Given the description of an element on the screen output the (x, y) to click on. 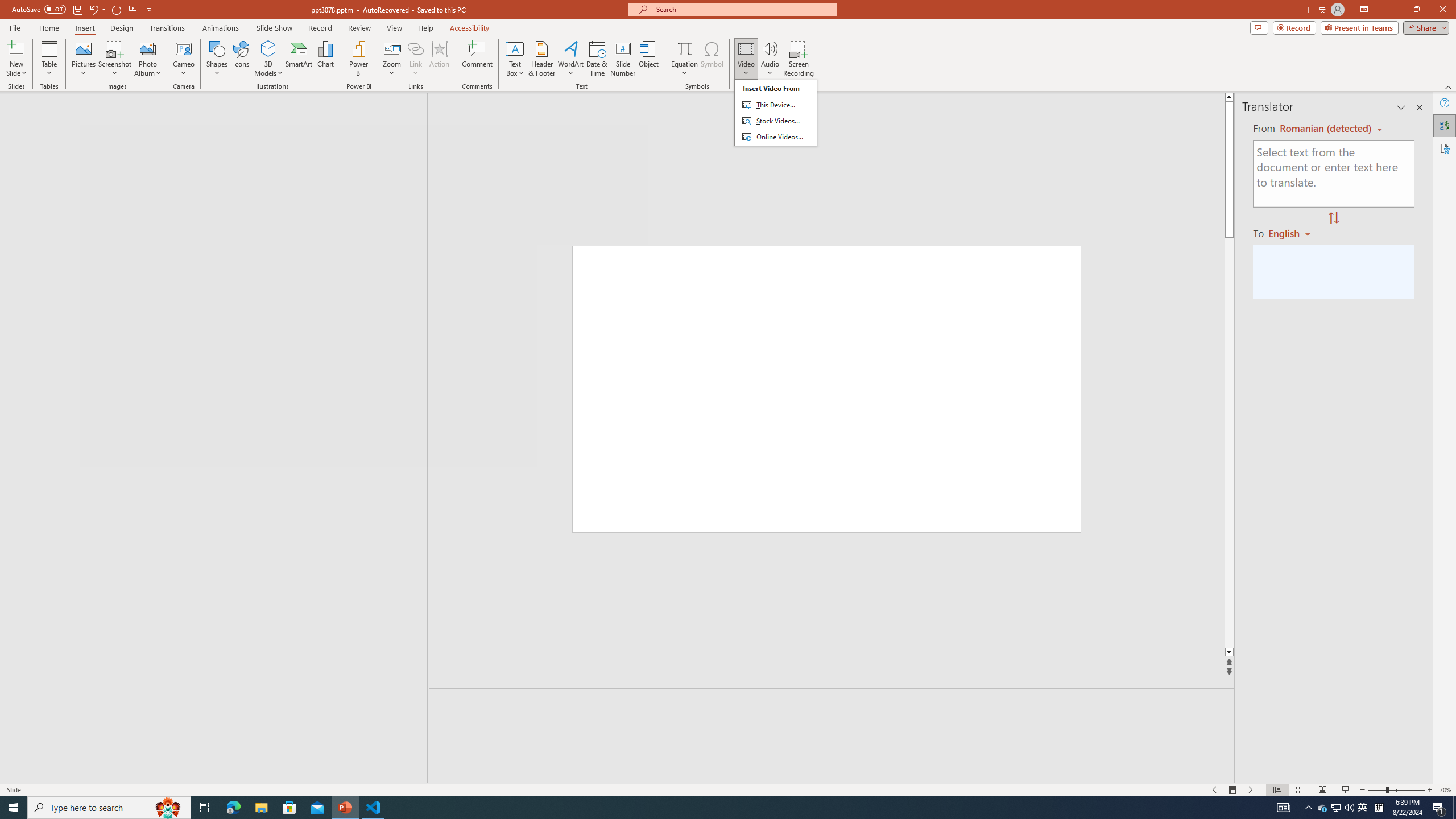
Running applications (700, 807)
Screenshot (114, 58)
Romanian (1293, 232)
